Given the description of an element on the screen output the (x, y) to click on. 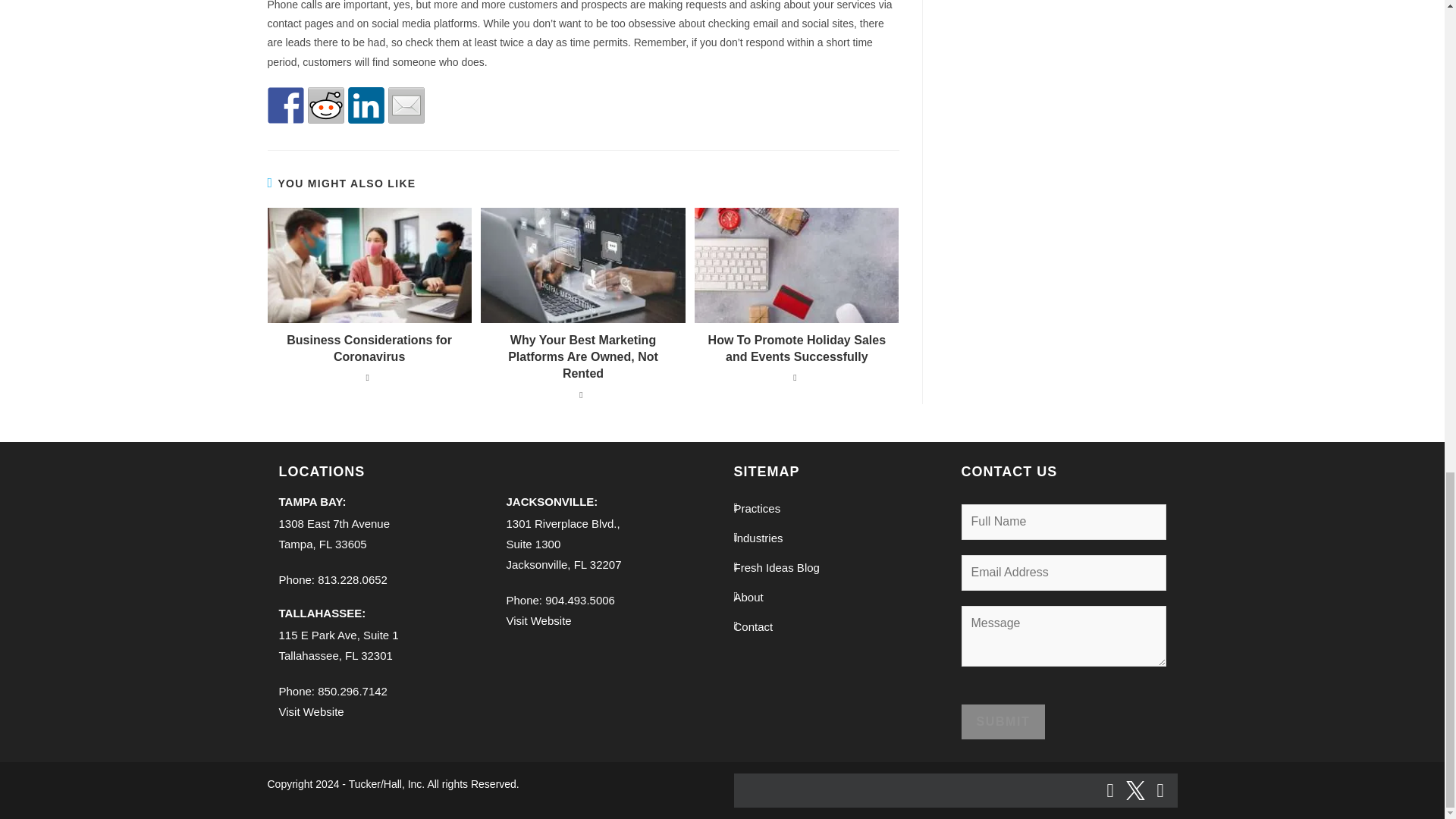
Share by email (406, 104)
Share on Reddit (325, 104)
Share on Linkedin (365, 104)
Share on Facebook (284, 104)
